Given the description of an element on the screen output the (x, y) to click on. 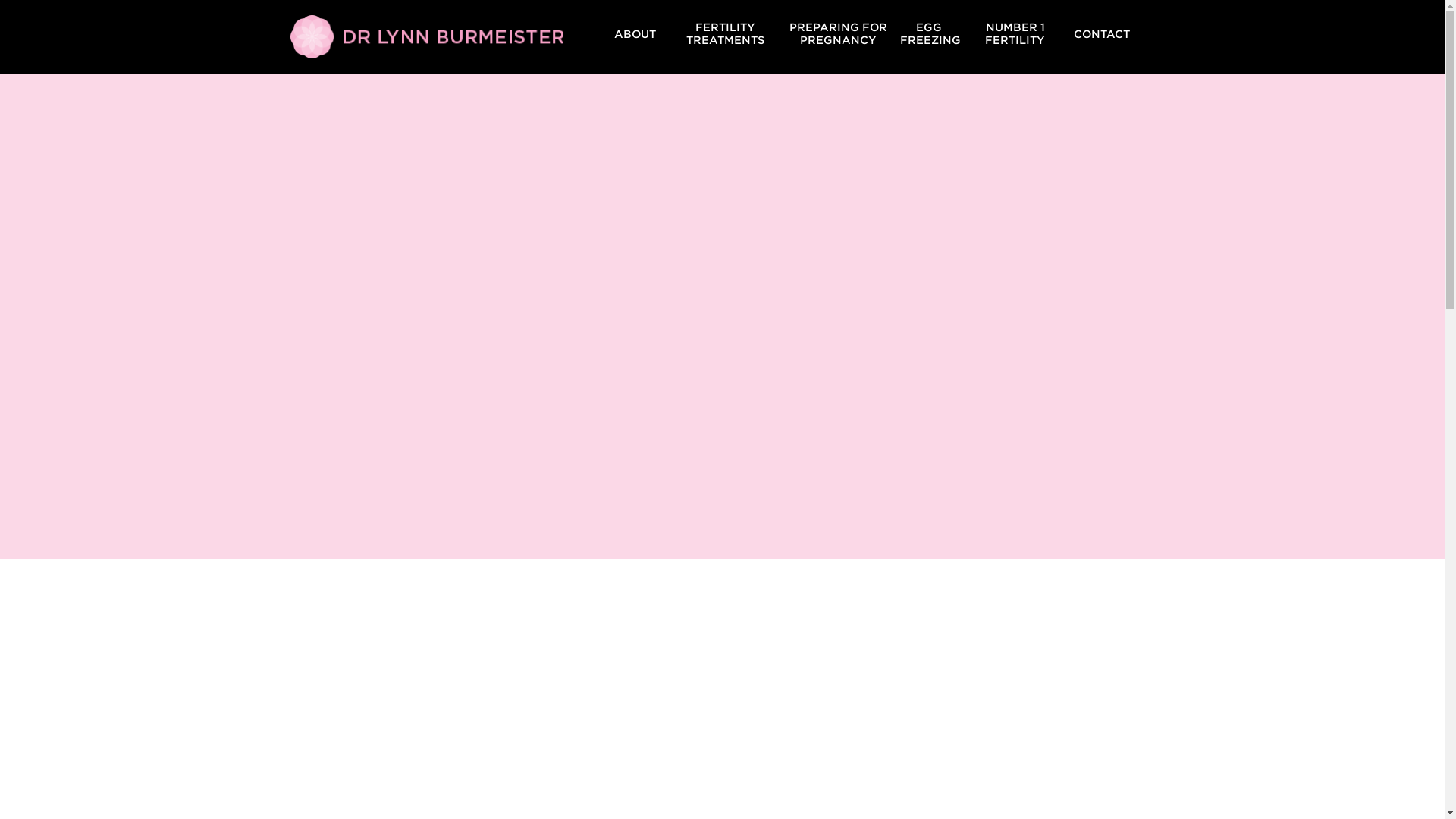
EGG FREEZING Element type: text (930, 33)
NUMBER 1 FERTILITY Element type: text (1014, 33)
FERTILITY TREATMENTS Element type: text (725, 33)
ABOUT Element type: text (634, 33)
PREPARING FOR PREGNANCY Element type: text (838, 33)
CONTACT Element type: text (1101, 33)
